Given the description of an element on the screen output the (x, y) to click on. 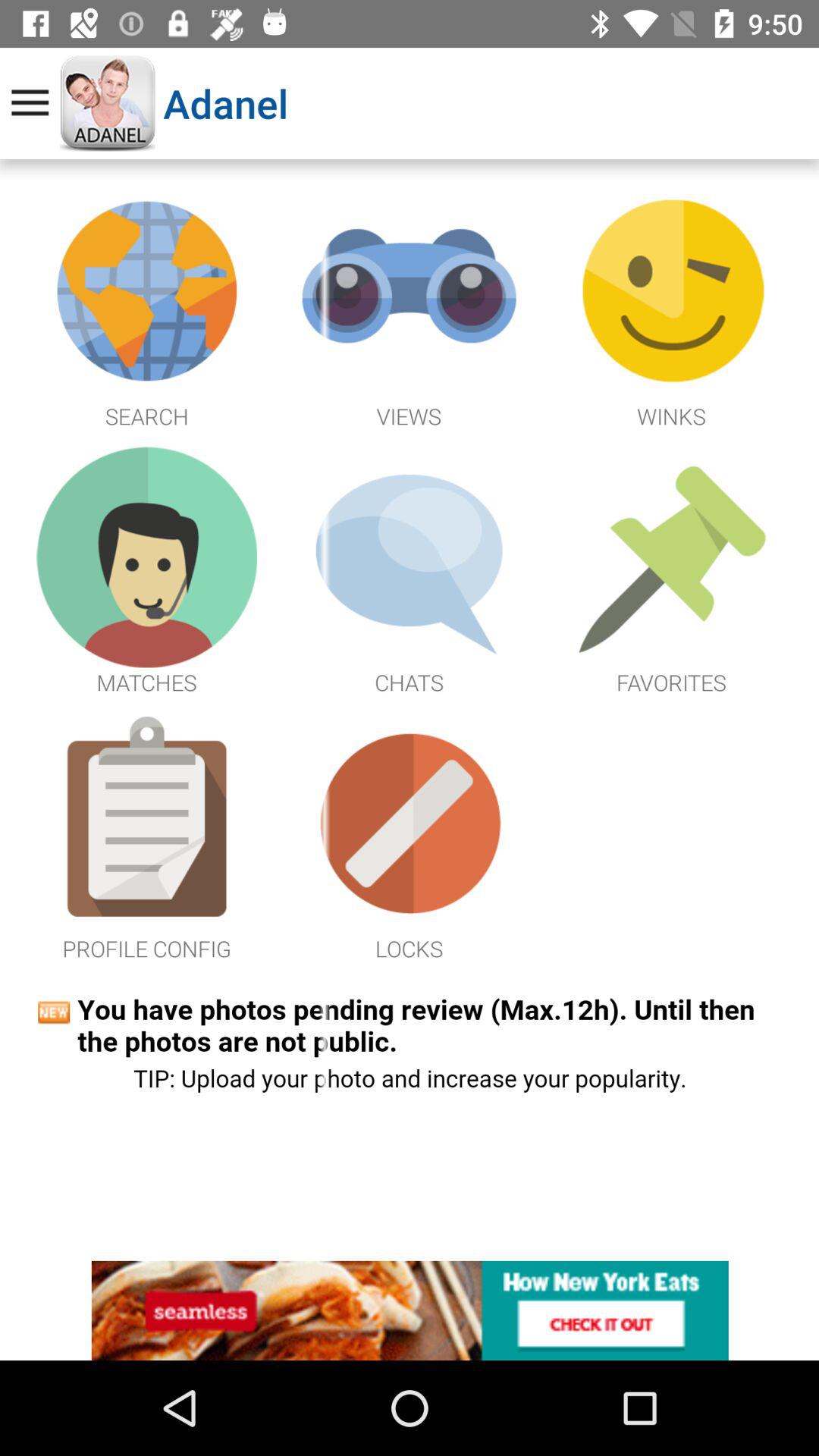
click the first image below the menu bar (146, 307)
